Given the description of an element on the screen output the (x, y) to click on. 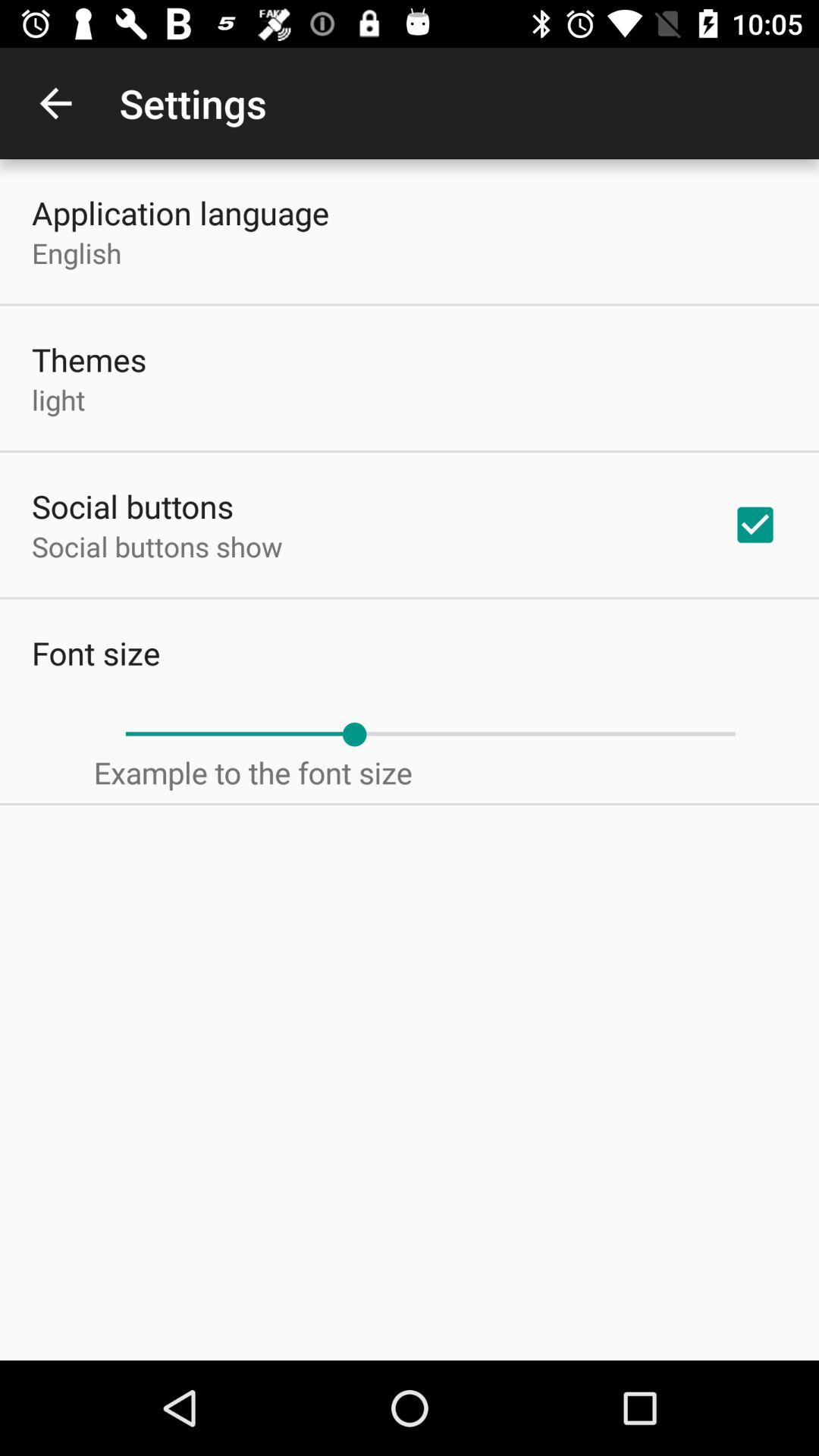
choose the icon above application language item (55, 103)
